Given the description of an element on the screen output the (x, y) to click on. 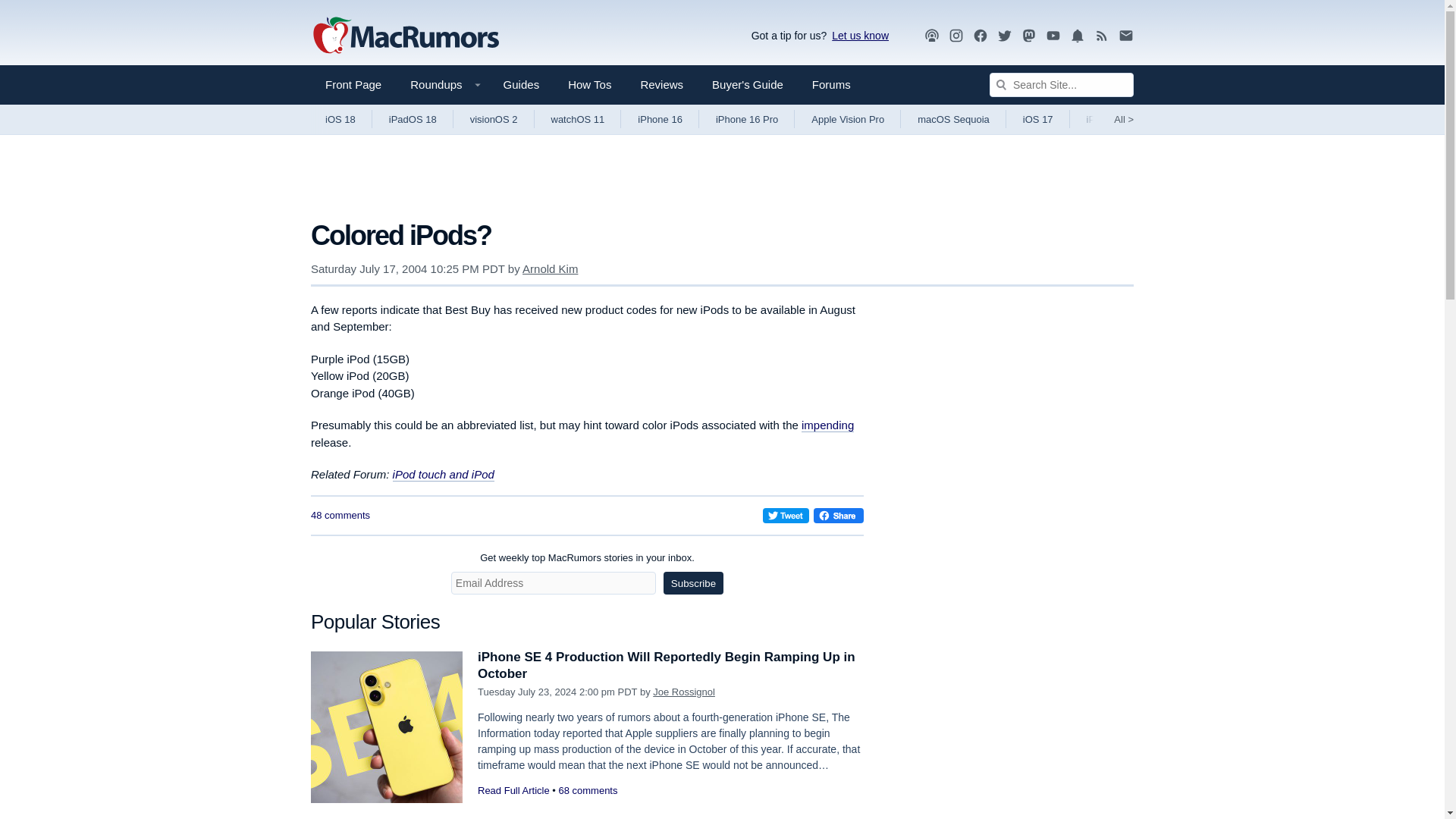
Reviews (661, 84)
MacRumors on Mastodon (1029, 35)
Instagram (956, 35)
Facebook (980, 35)
Podcast (931, 35)
Notifications (1077, 35)
Podcast (931, 35)
Forums (830, 84)
RSS (1101, 35)
Front Page (353, 84)
MacRumors RSS Feed (1101, 35)
MacRumors Newsletter Signup (1126, 35)
Roundups (441, 84)
Apple, Mac, iPhone, iPad News and Rumors (405, 36)
MacRumors YouTube Channel (1053, 35)
